Given the description of an element on the screen output the (x, y) to click on. 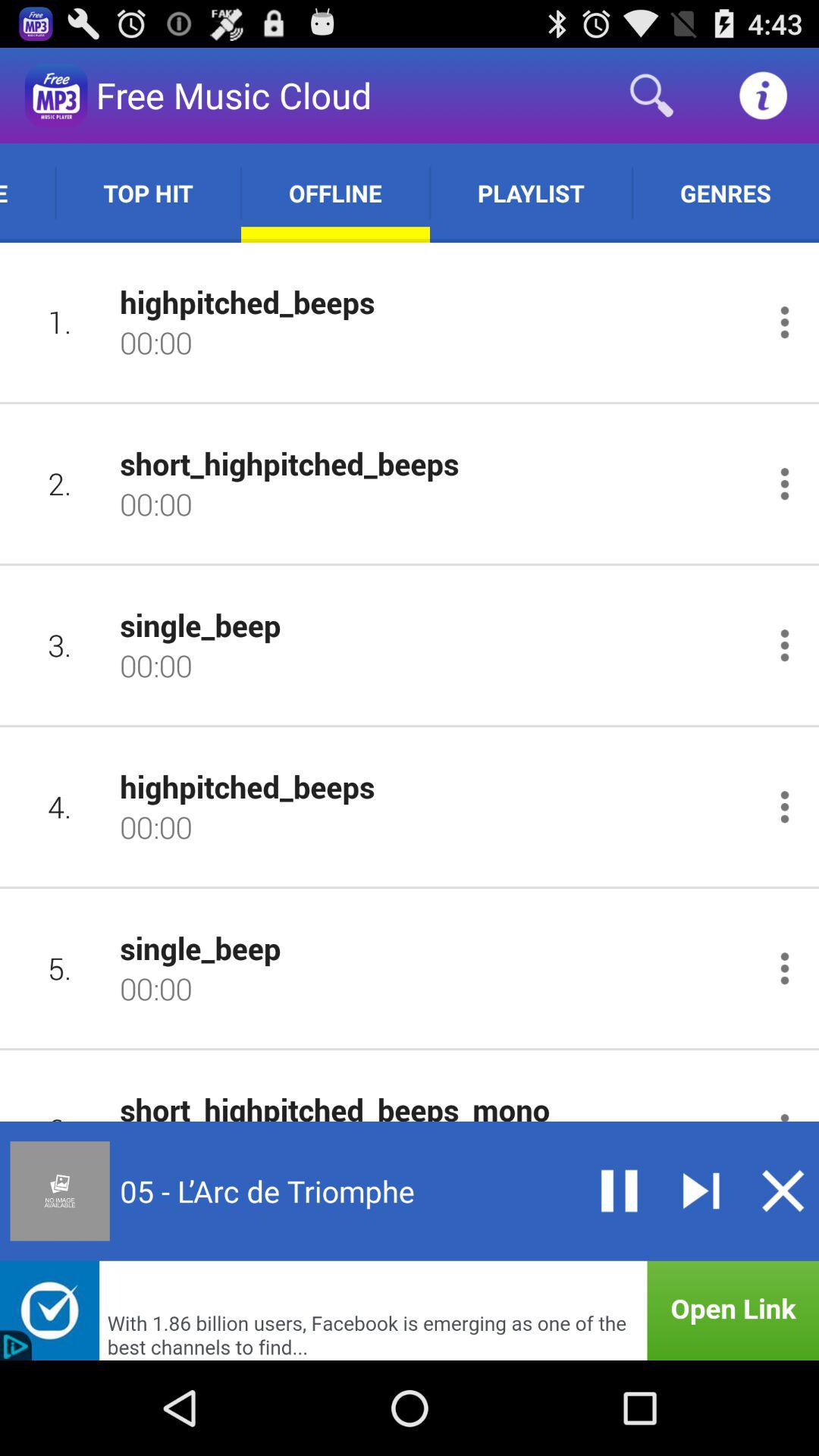
click icon next to the short_highpitched_beeps_mono item (59, 1100)
